Given the description of an element on the screen output the (x, y) to click on. 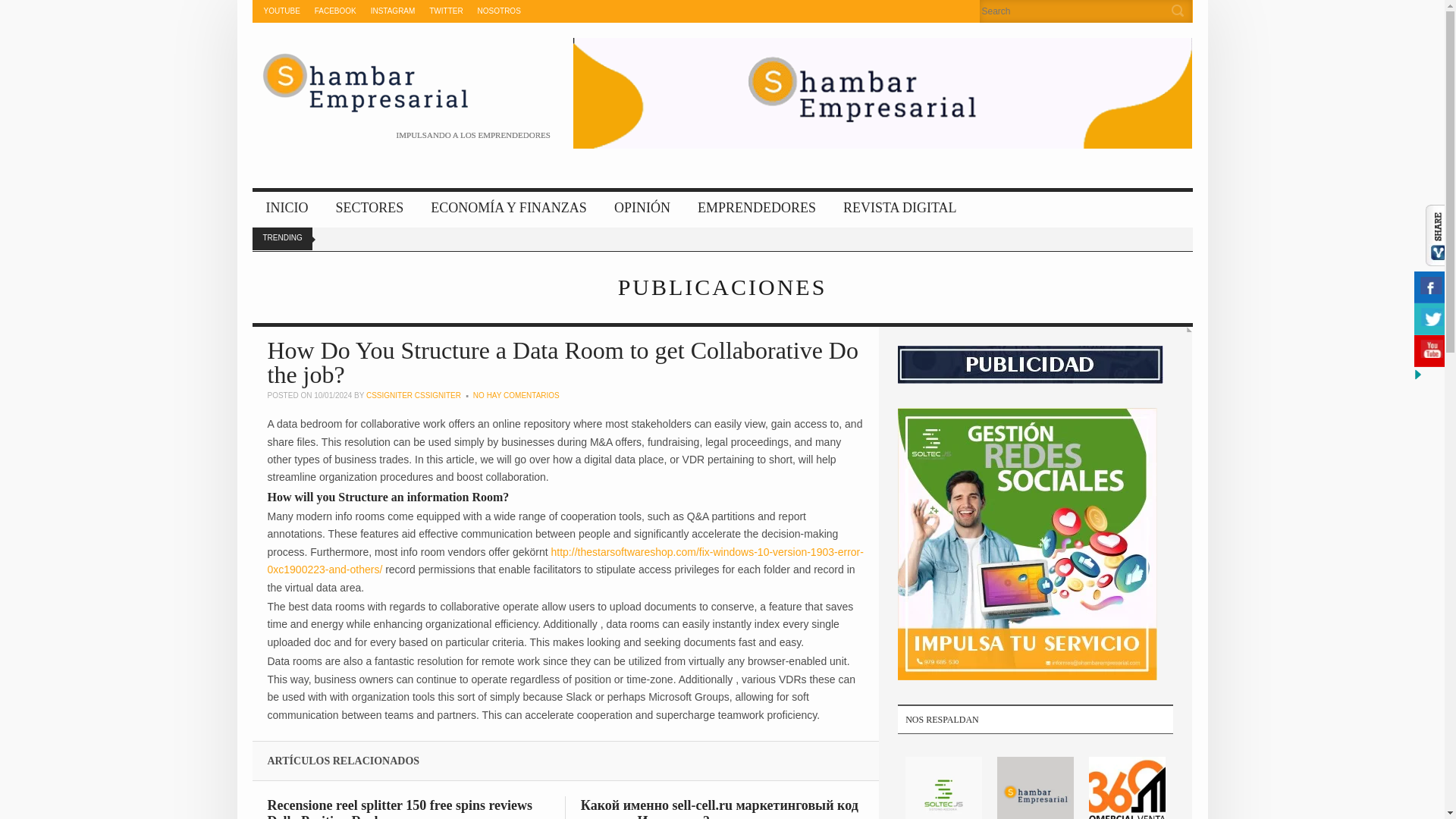
NOSOTROS (499, 10)
TWITTER (446, 10)
GO (1180, 11)
GO (1180, 11)
EMPRENDEDORES (756, 209)
REVISTA DIGITAL (900, 209)
Sobre nosotros (499, 10)
INSTAGRAM (392, 10)
GO (1180, 11)
CSSIGNITER CSSIGNITER (413, 395)
FACEBOOK (335, 10)
INICIO (286, 209)
YOUTUBE (281, 10)
SECTORES (368, 209)
